Given the description of an element on the screen output the (x, y) to click on. 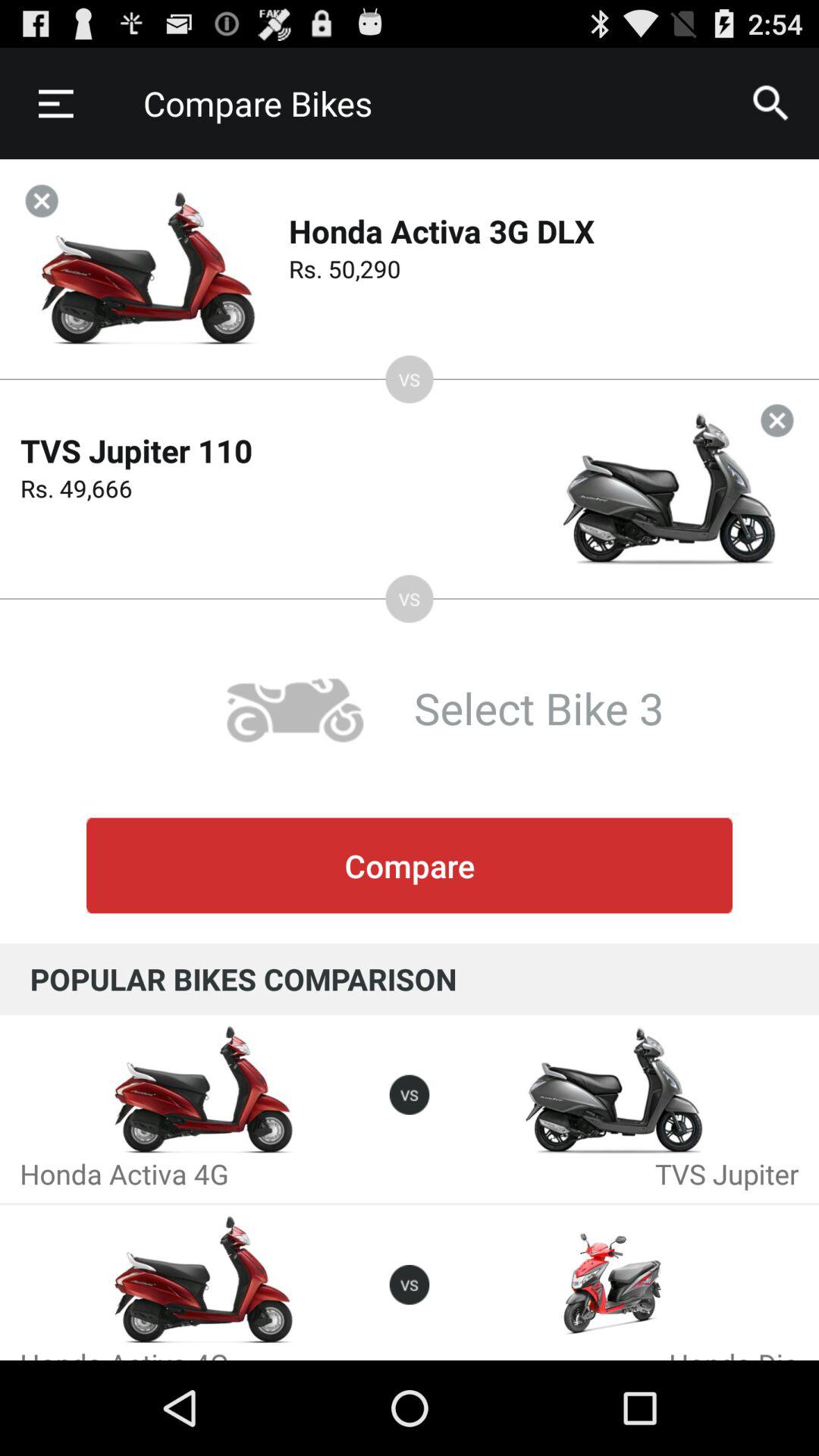
click item next to the compare bikes item (771, 103)
